Given the description of an element on the screen output the (x, y) to click on. 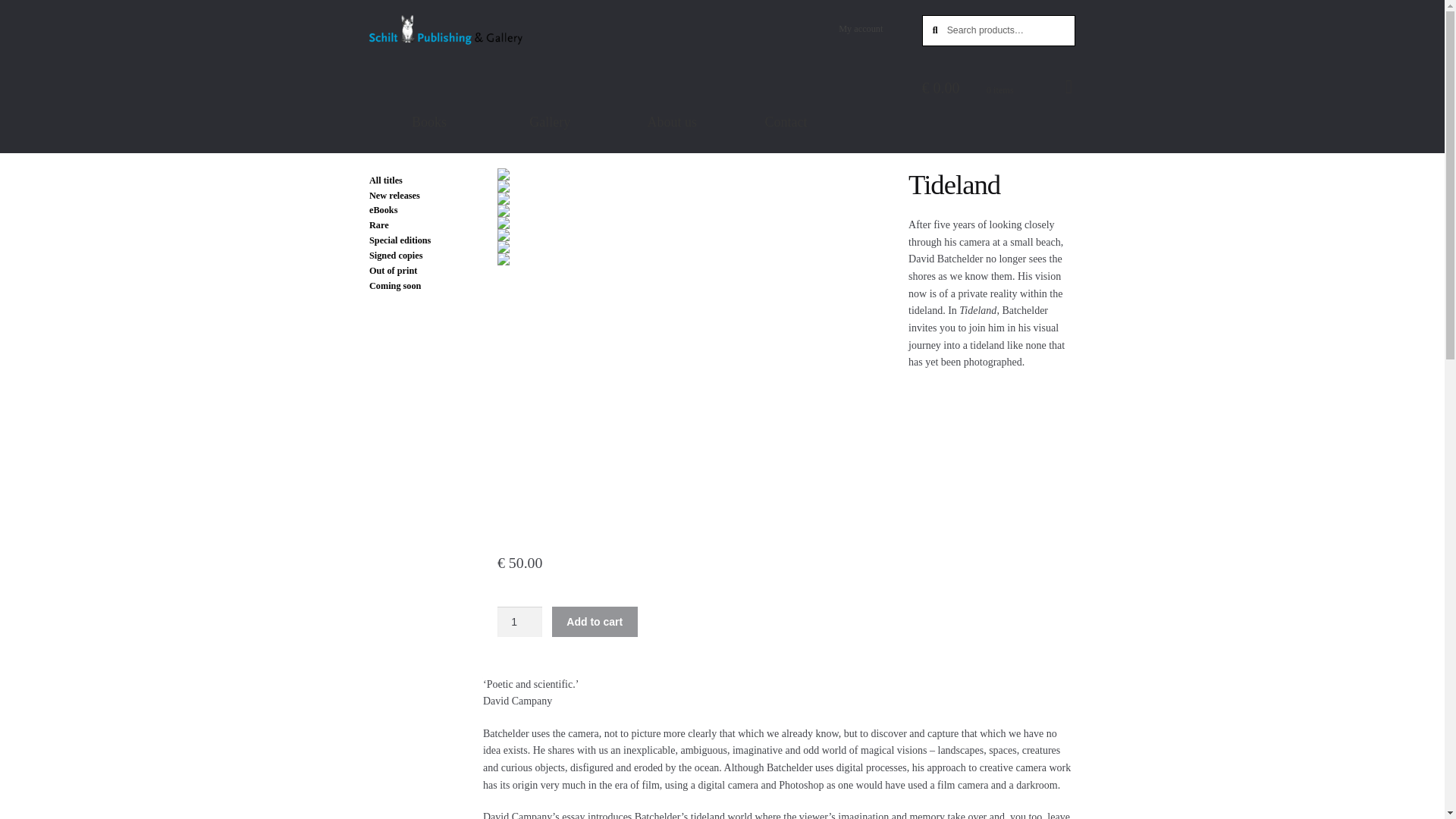
1 (519, 621)
Books (469, 111)
About us (703, 111)
My account (860, 29)
View your shopping cart (998, 87)
Gallery (587, 111)
Contact (822, 111)
